Given the description of an element on the screen output the (x, y) to click on. 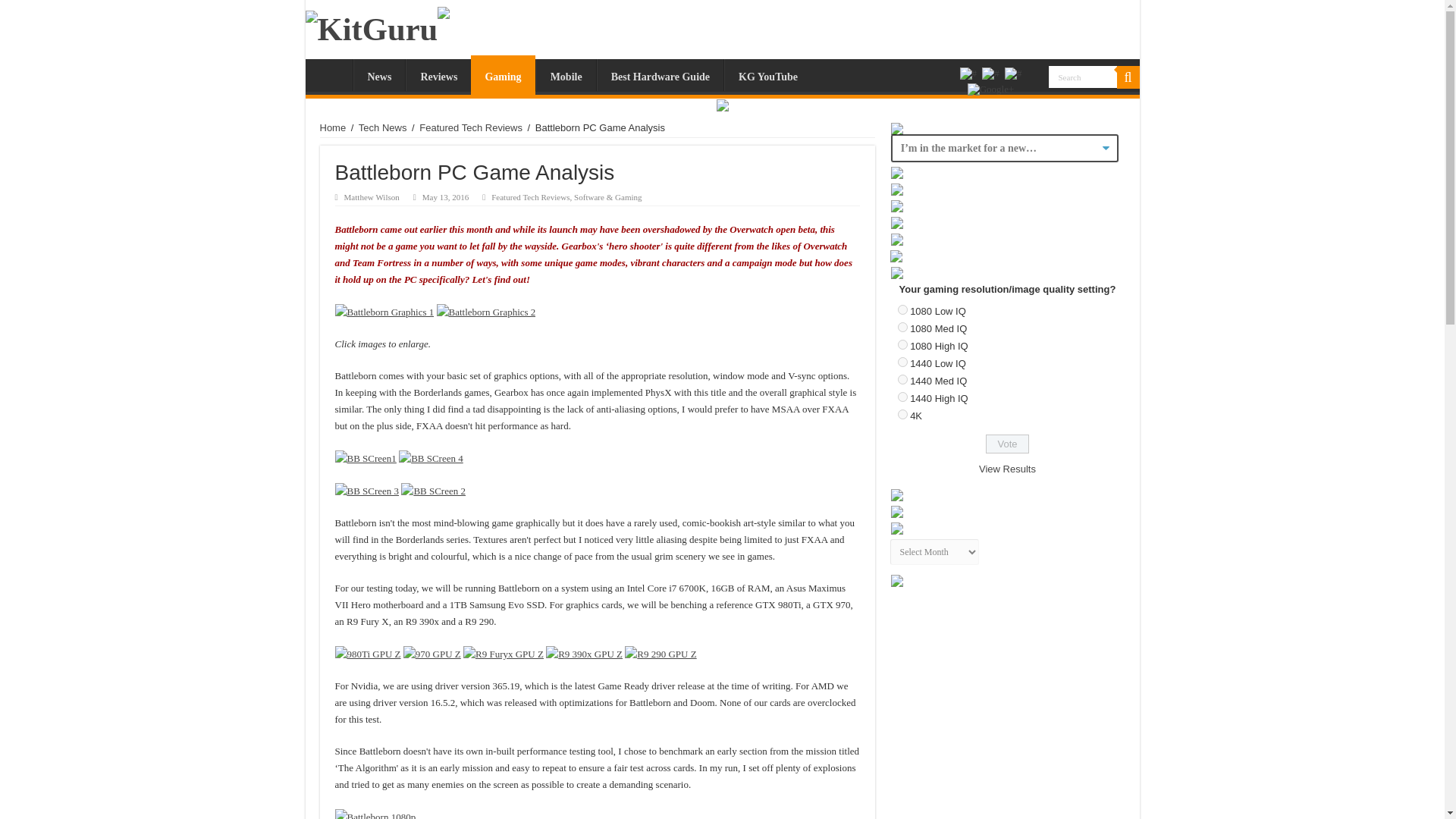
1381 (902, 344)
KG YouTube (766, 74)
Youtube (1013, 72)
   Vote    (1007, 443)
Search (1127, 77)
Gaming (502, 75)
1383 (902, 379)
Search (1082, 76)
1384 (902, 397)
Best Hardware Guide (659, 74)
